Given the description of an element on the screen output the (x, y) to click on. 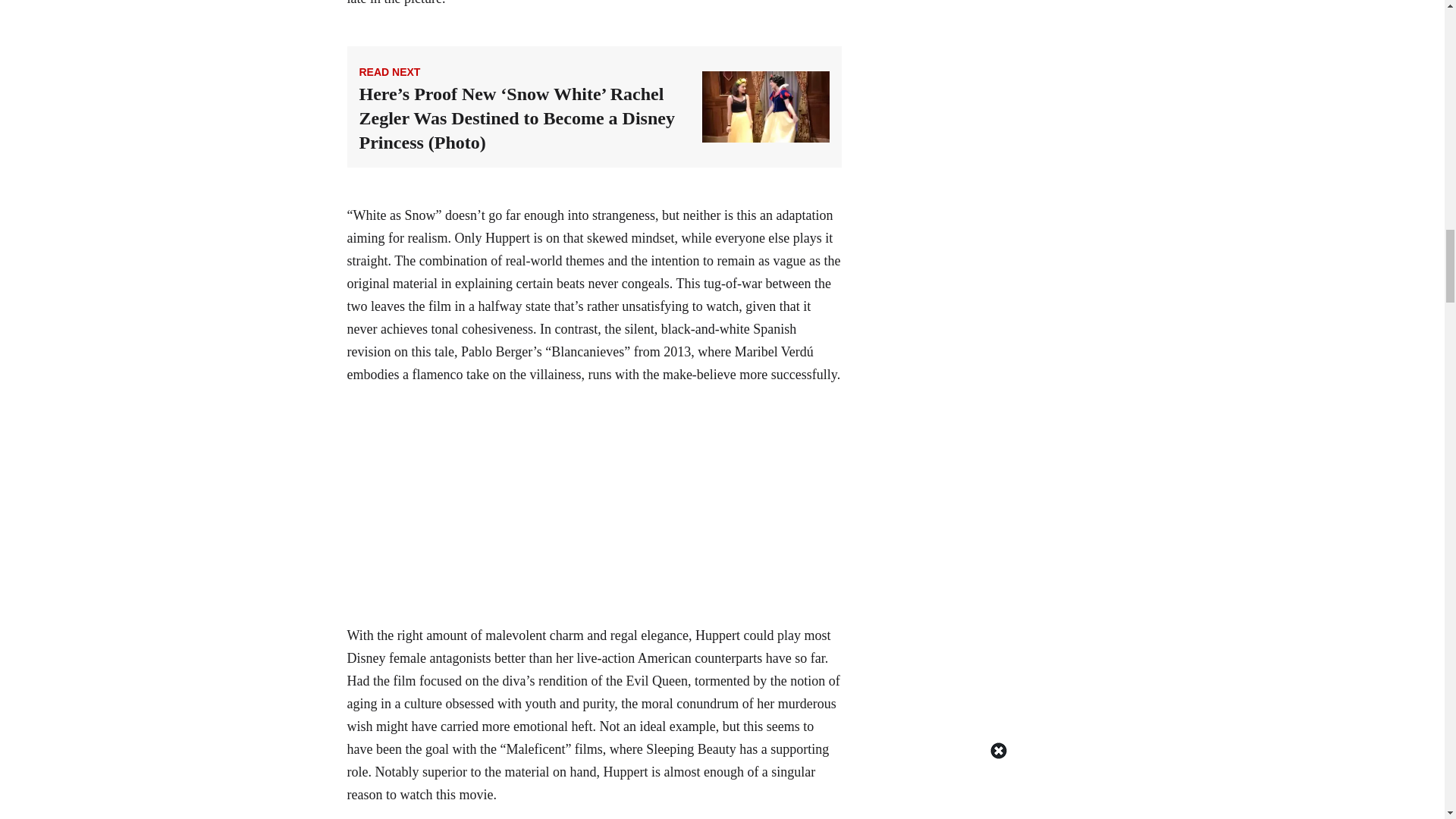
3rd party ad content (593, 504)
